Given the description of an element on the screen output the (x, y) to click on. 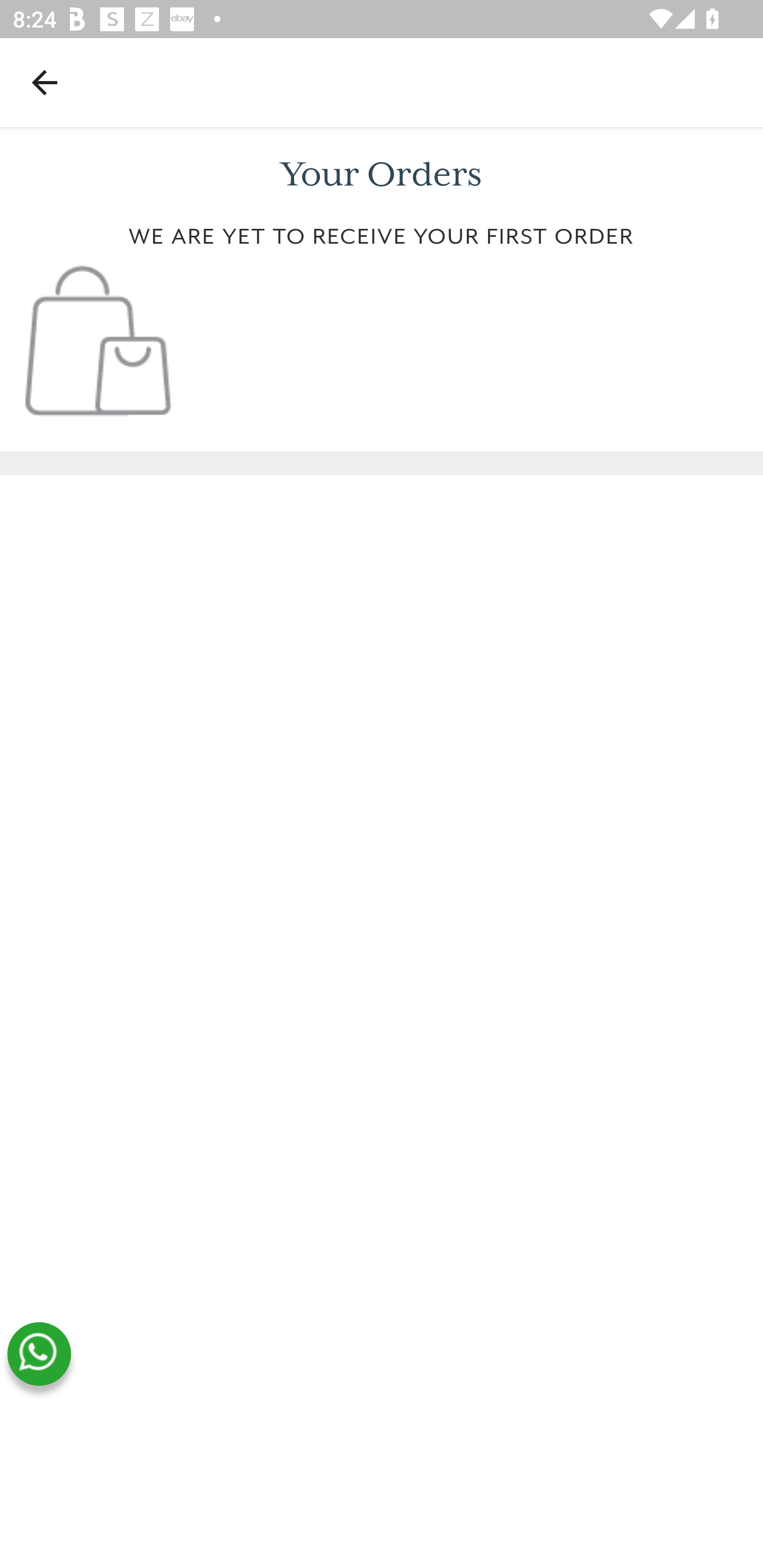
Navigate up (44, 82)
whatsapp (38, 1353)
